Given the description of an element on the screen output the (x, y) to click on. 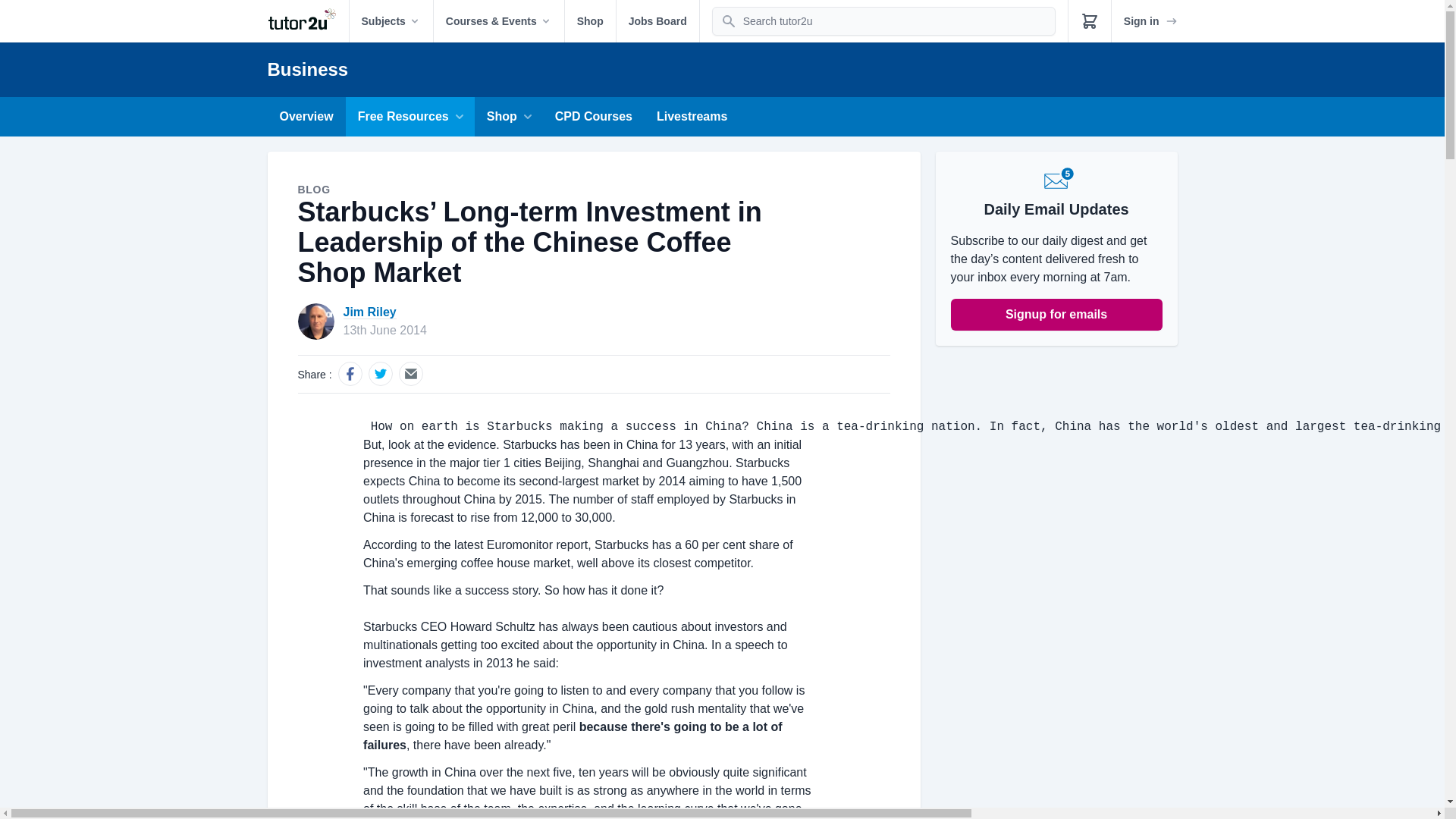
Free Resources (410, 116)
Shop (589, 21)
Sign in (1150, 21)
Jobs Board (656, 21)
tutor2u (306, 21)
Business (306, 68)
Overview (305, 116)
Subjects (390, 21)
